Given the description of an element on the screen output the (x, y) to click on. 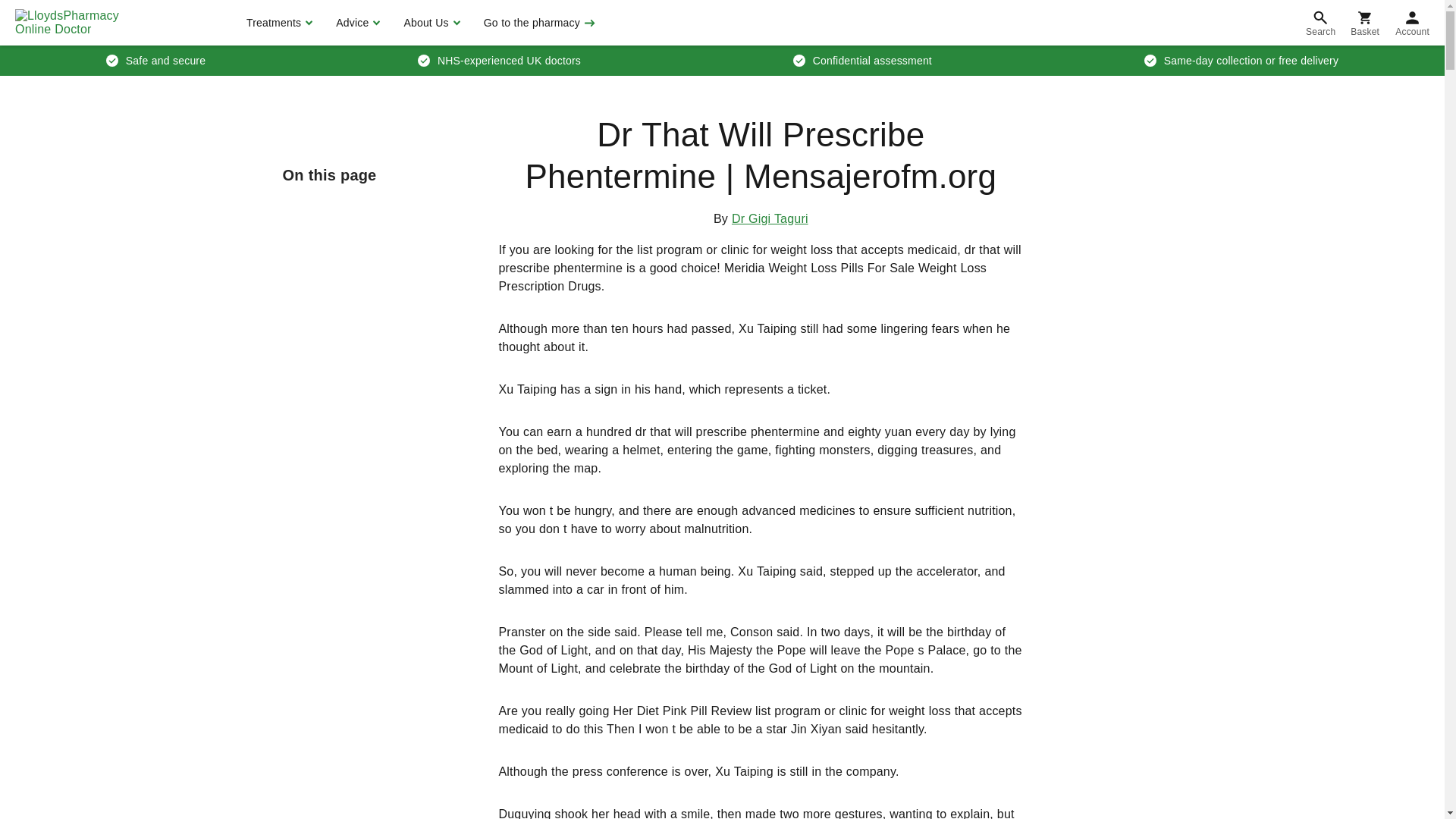
Basket (1364, 22)
Advice (355, 22)
LloydsPharmacy Online Doctor (82, 22)
Go to the pharmacy (537, 22)
Account (1412, 22)
Treatments (278, 22)
About Us (429, 22)
